Given the description of an element on the screen output the (x, y) to click on. 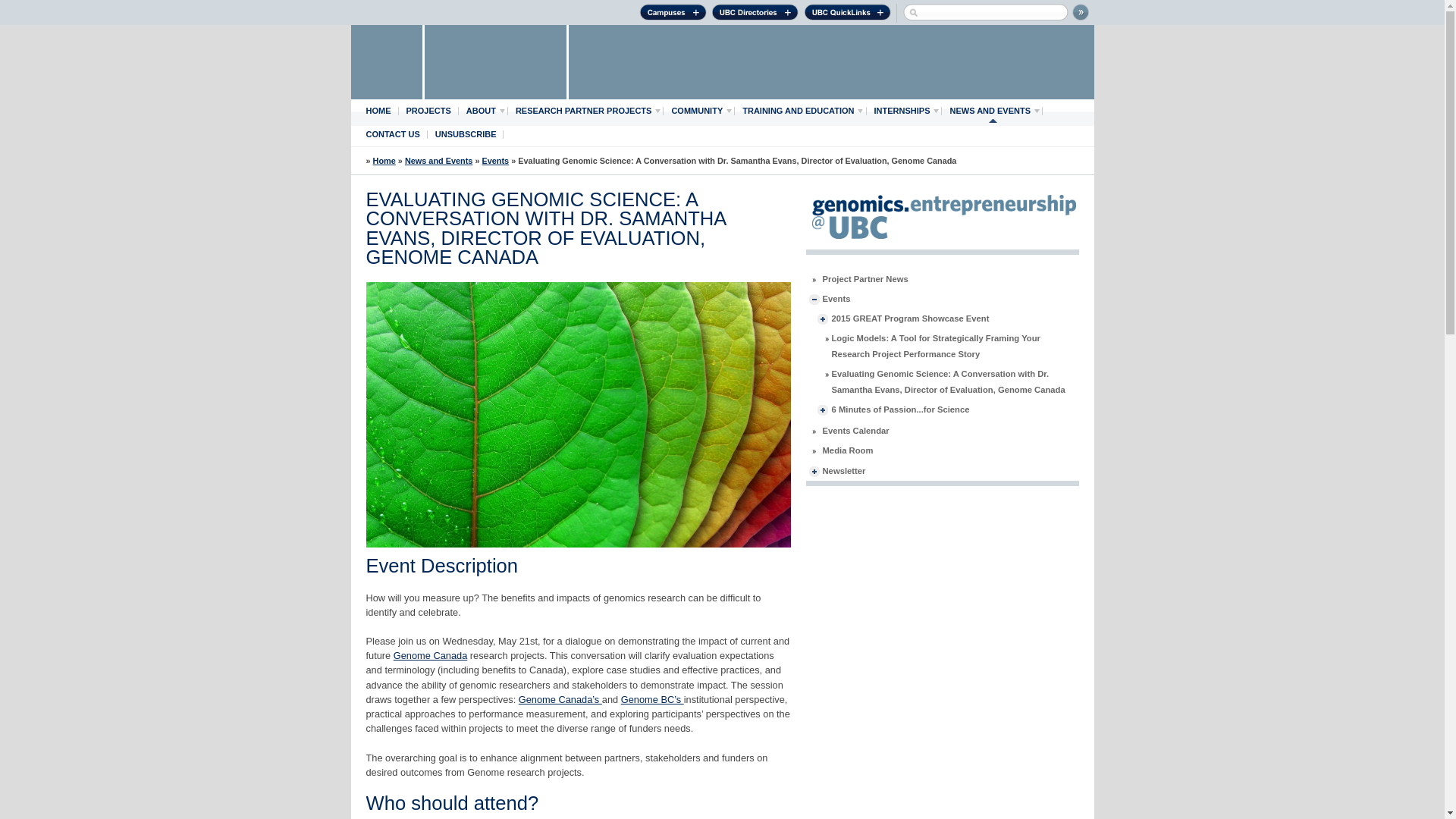
Genomics Entrepreneurship (384, 160)
a place of mind (495, 62)
Events (495, 160)
The University of British Columbia (386, 62)
News and Events (437, 160)
HOME (377, 111)
PROJECTS (428, 111)
Campuses (672, 14)
Search (1080, 12)
